Given the description of an element on the screen output the (x, y) to click on. 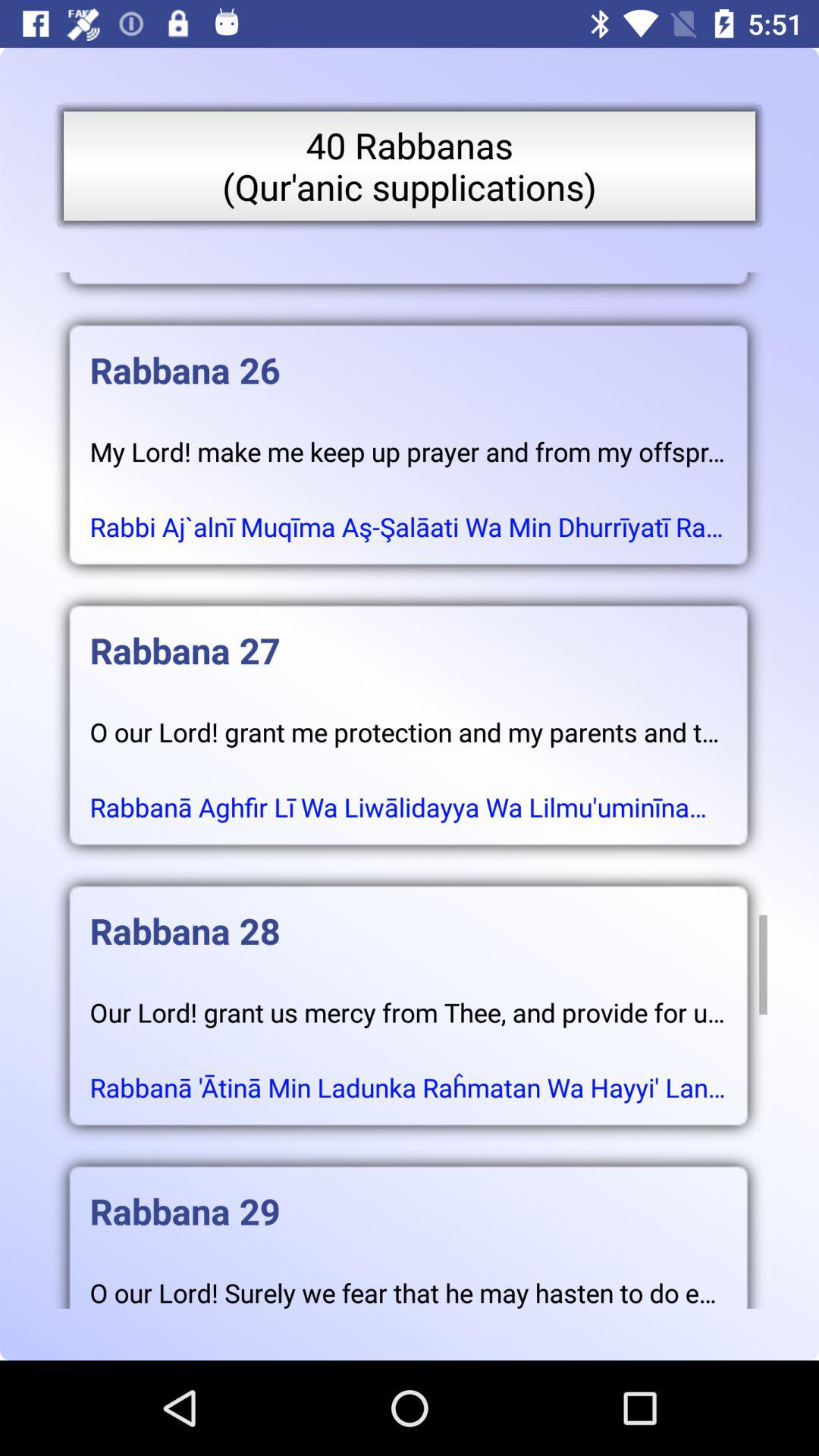
turn off the rabbana 26 item (408, 355)
